Given the description of an element on the screen output the (x, y) to click on. 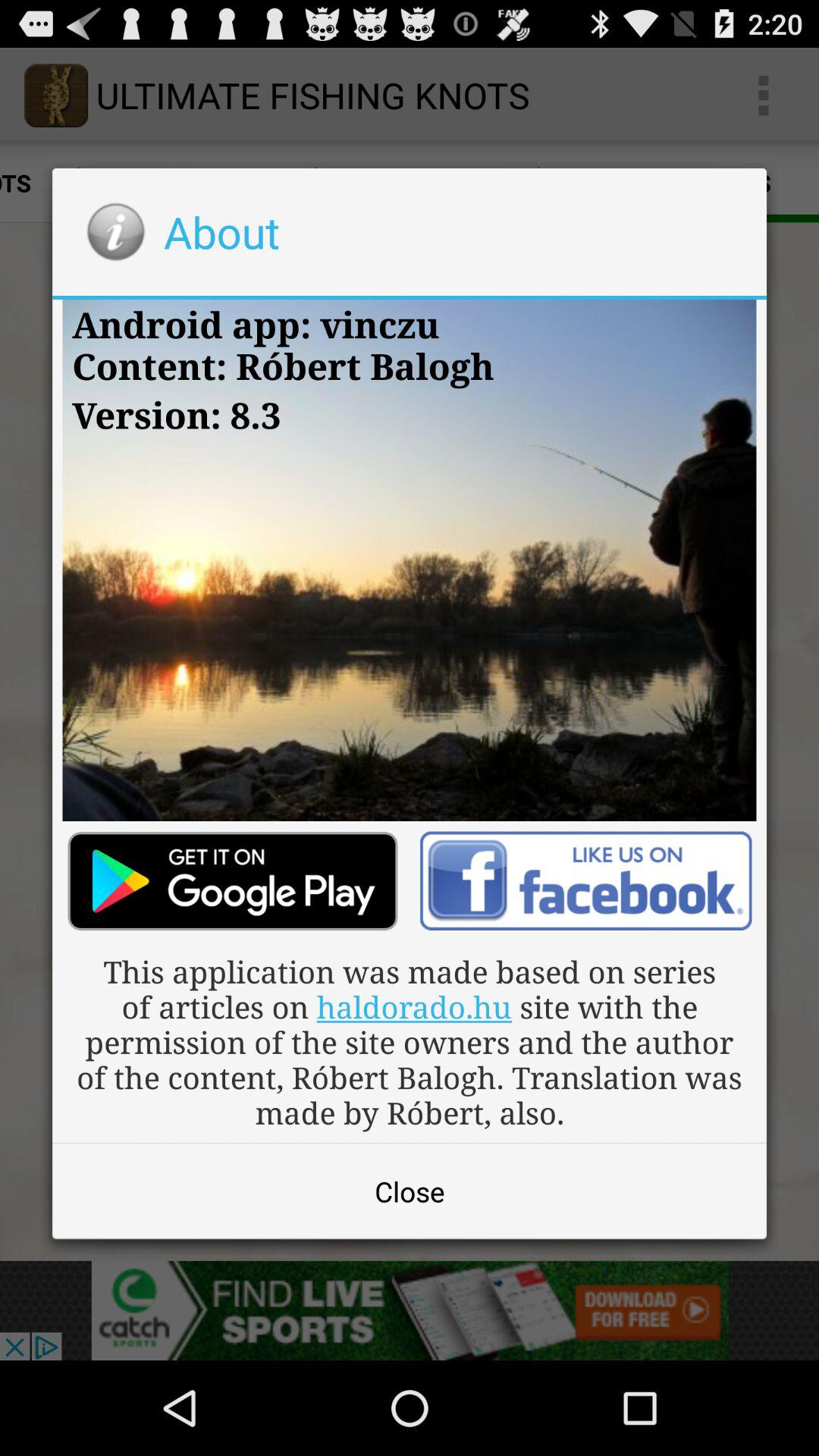
like the article on facebook (585, 880)
